Given the description of an element on the screen output the (x, y) to click on. 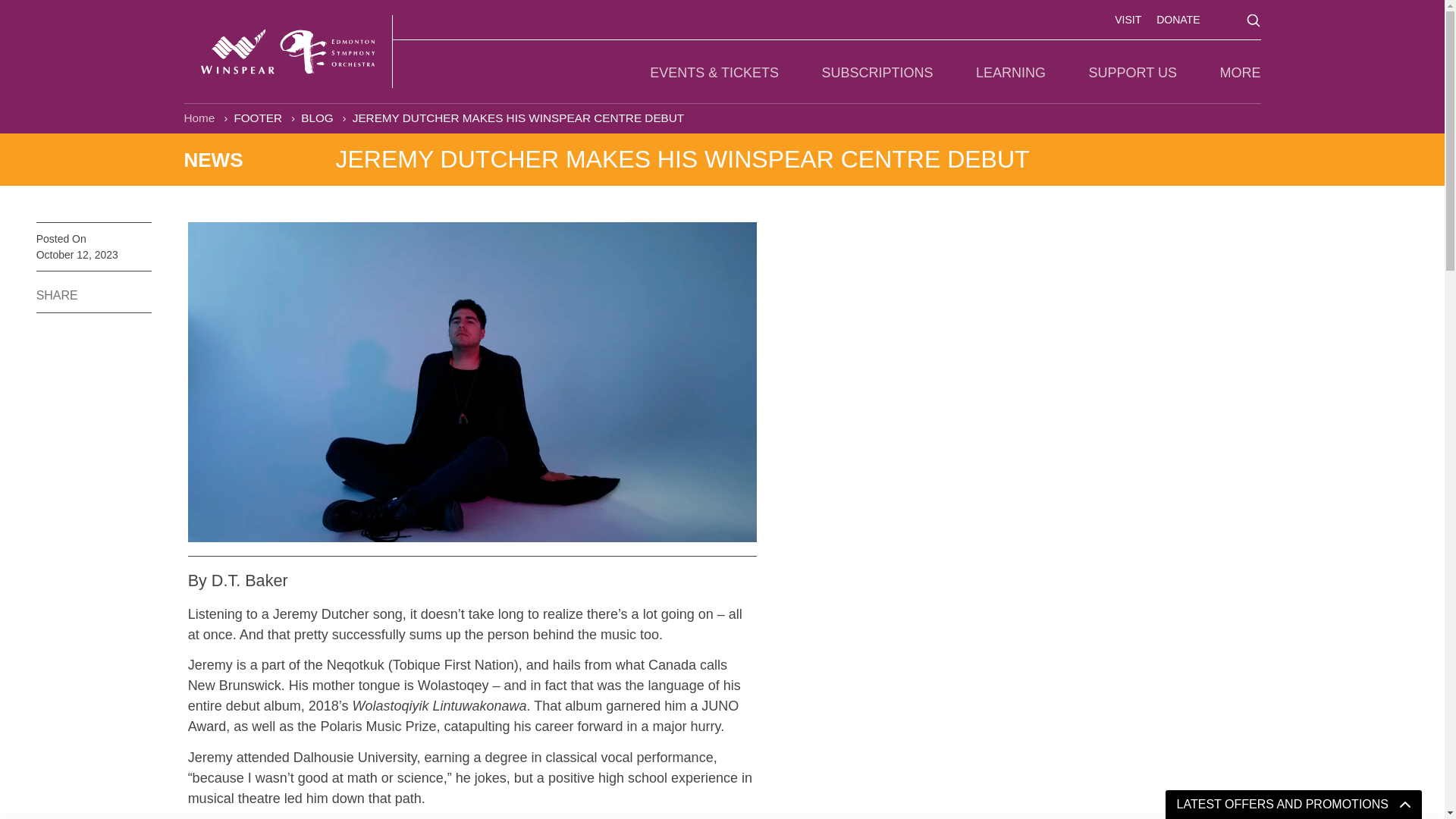
LEARNING (1010, 73)
Support Us (1132, 73)
BLOG (318, 117)
Subscriptions (877, 73)
Donate (1177, 19)
SHARE (60, 292)
More (1240, 73)
SUBSCRIPTIONS (877, 73)
Blog (318, 117)
Footer (258, 117)
